Given the description of an element on the screen output the (x, y) to click on. 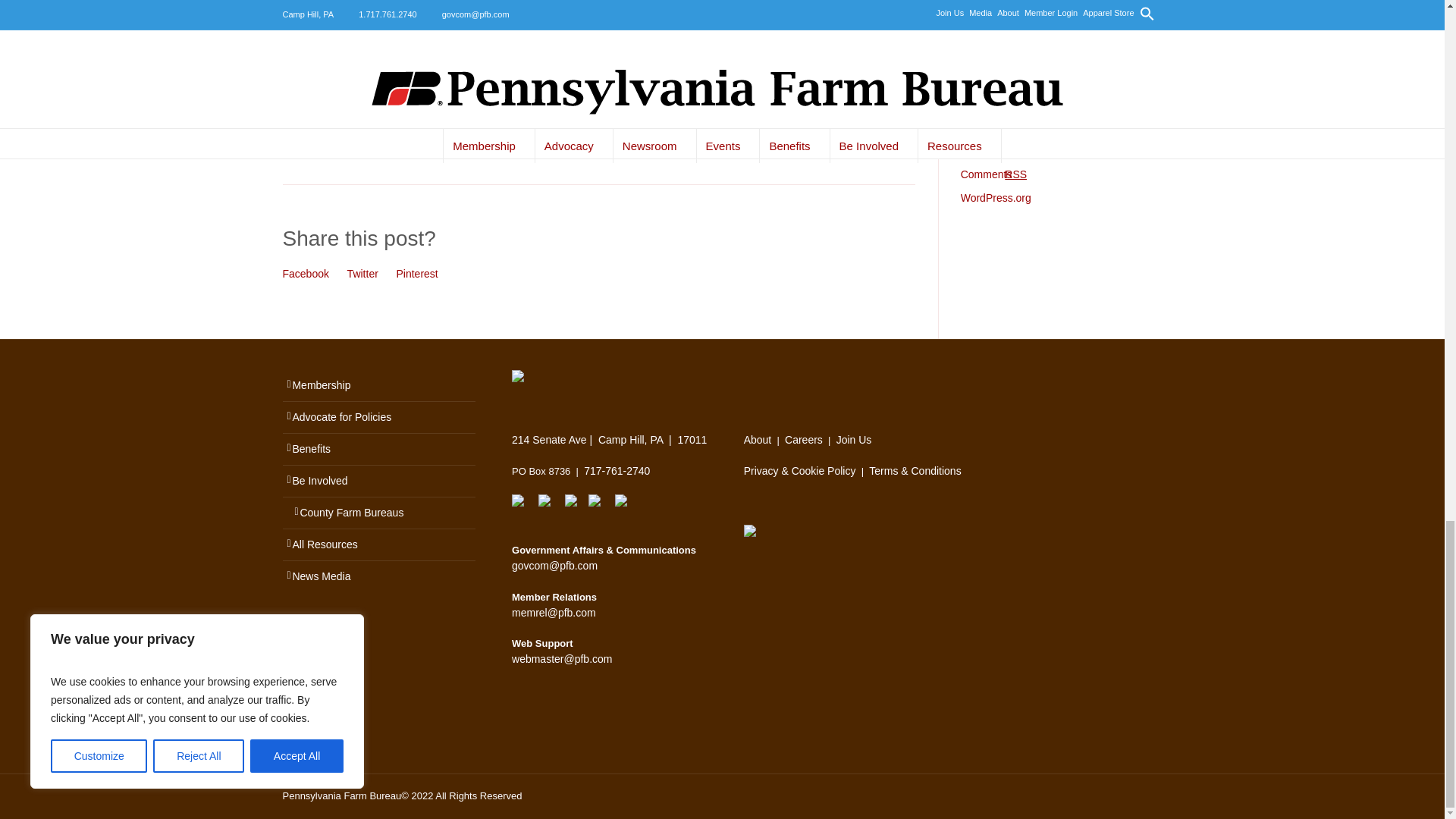
Syndicate this site using RSS 2.0 (984, 150)
The latest comments to all posts in RSS (993, 174)
